Given the description of an element on the screen output the (x, y) to click on. 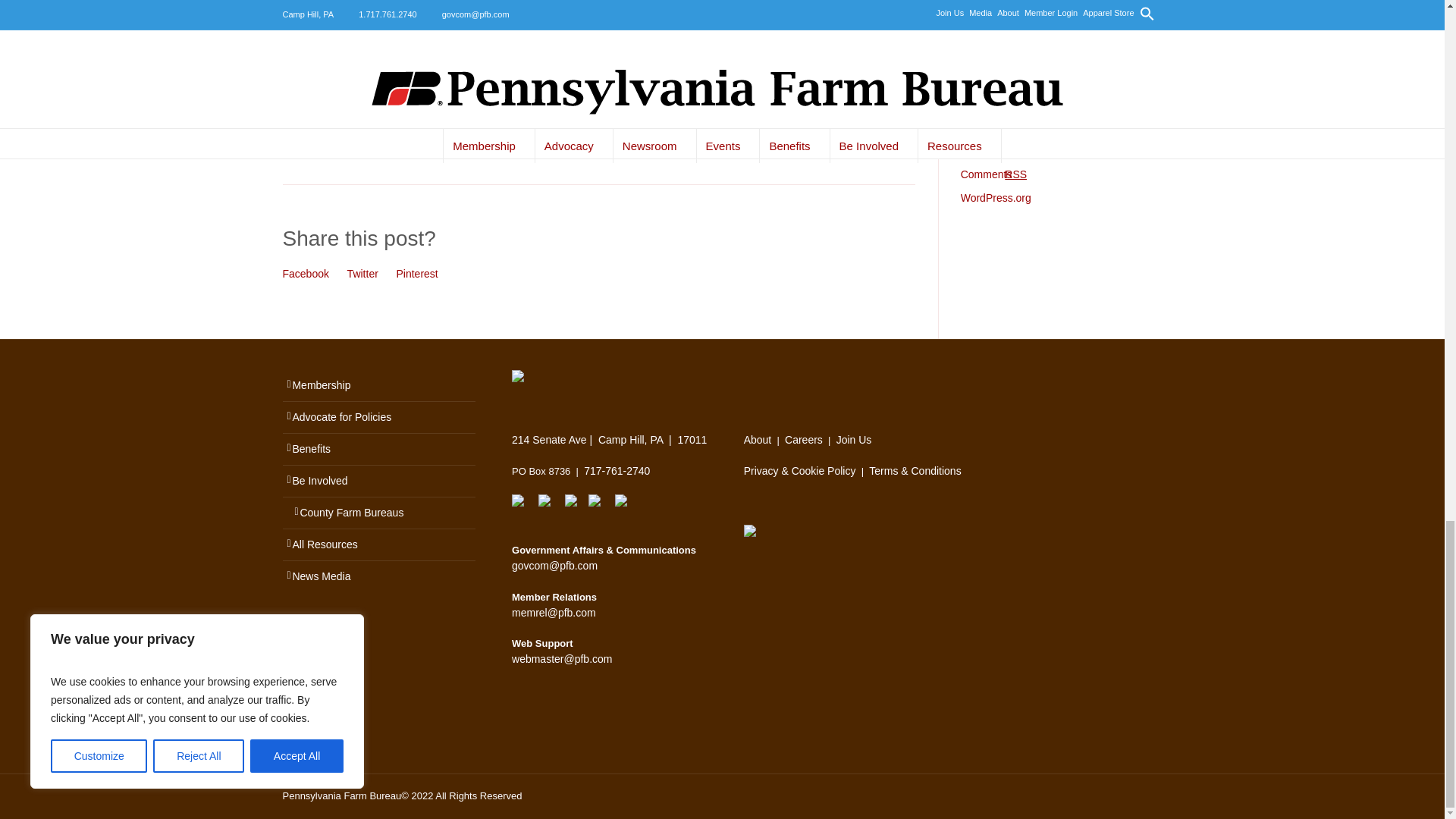
Syndicate this site using RSS 2.0 (984, 150)
The latest comments to all posts in RSS (993, 174)
